Given the description of an element on the screen output the (x, y) to click on. 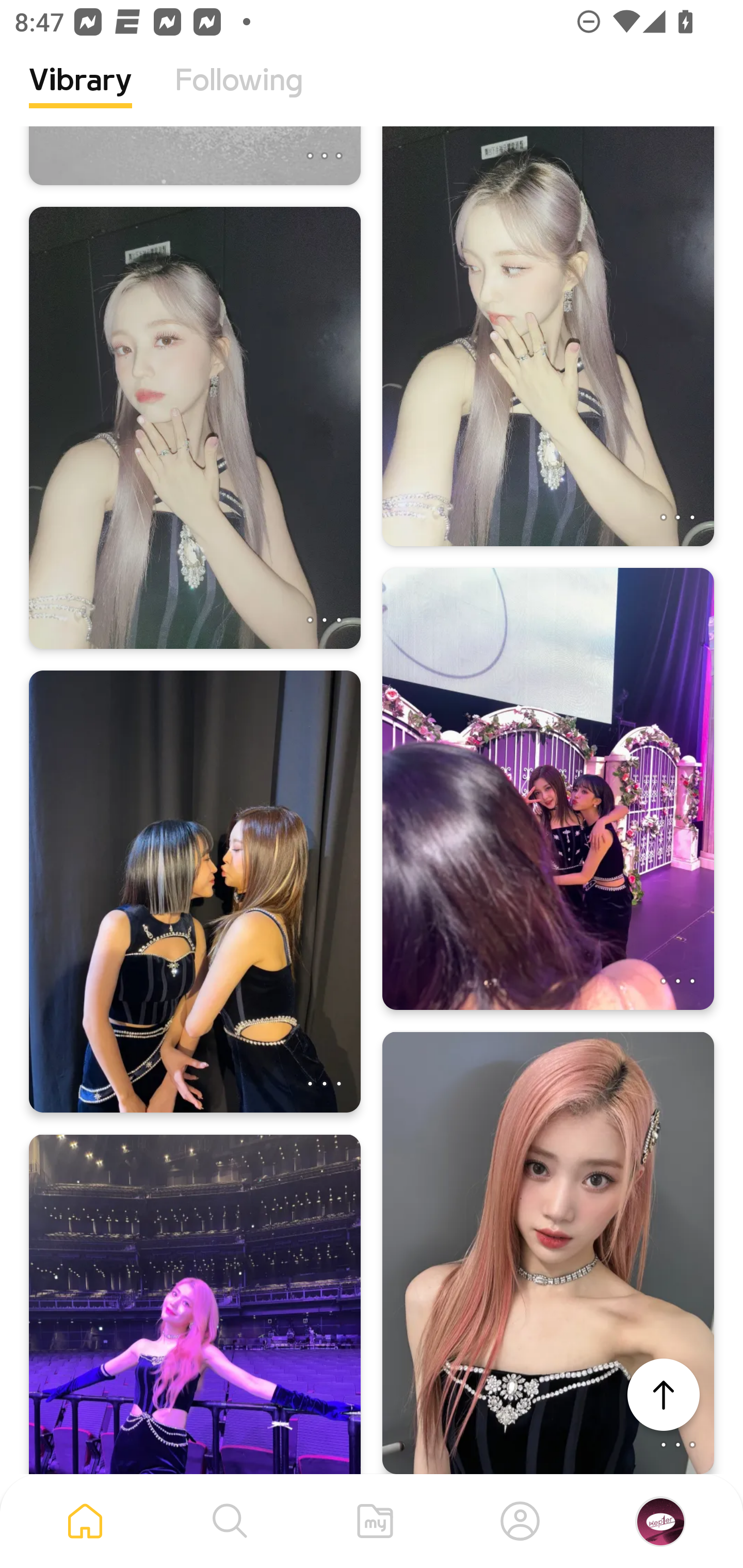
Vibrary (80, 95)
Following (239, 95)
